Given the description of an element on the screen output the (x, y) to click on. 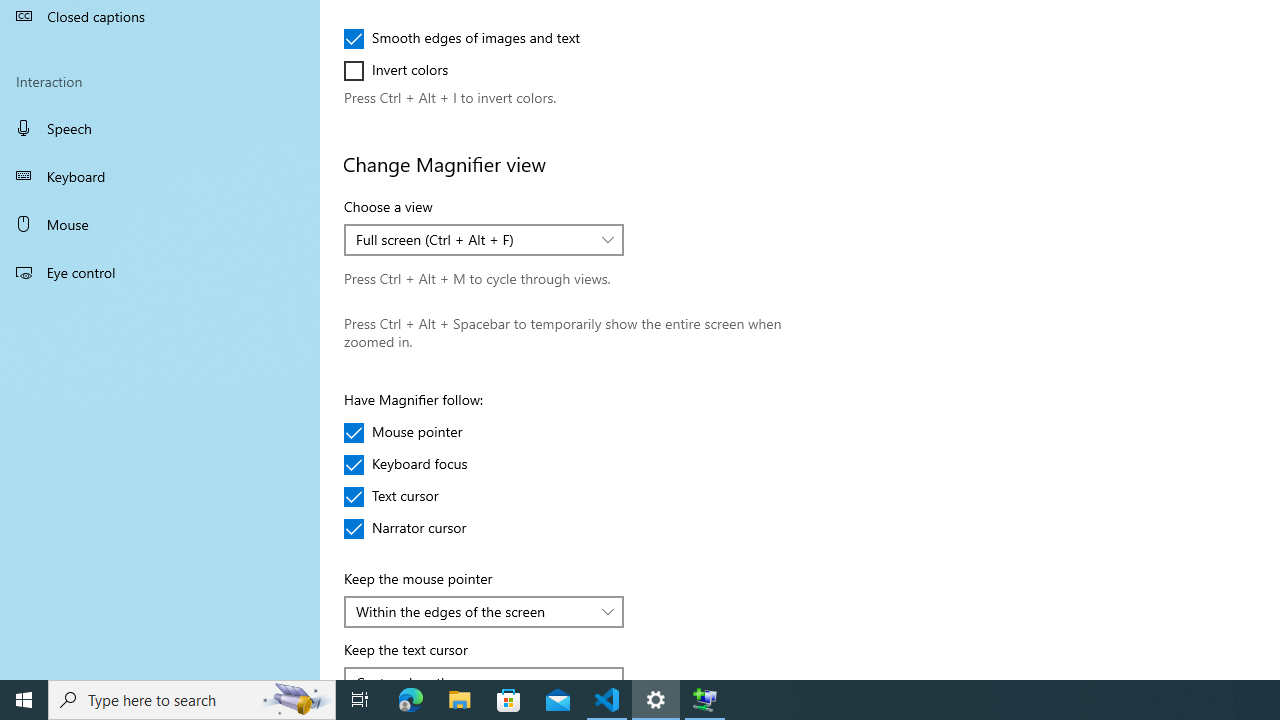
Keyboard (160, 175)
Start (24, 699)
Centered on the screen (473, 676)
File Explorer (460, 699)
Extensible Wizards Host Process - 1 running window (704, 699)
Invert colors (403, 70)
Mouse (160, 223)
Microsoft Edge (411, 699)
Settings - 1 running window (656, 699)
Visual Studio Code - 1 running window (607, 699)
Keep the mouse pointer (484, 611)
